Given the description of an element on the screen output the (x, y) to click on. 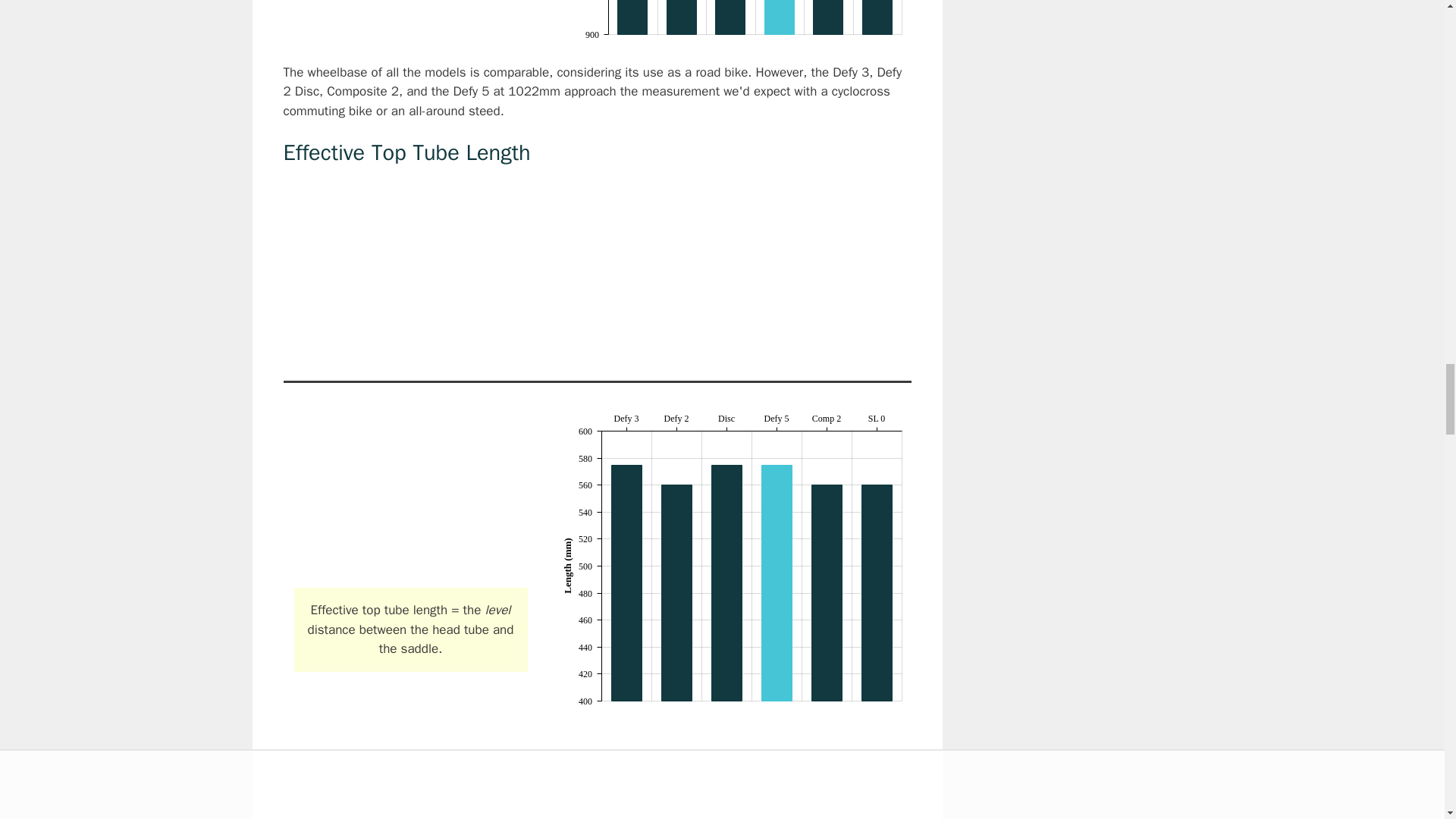
Effective Top Tube Length (410, 494)
